Given the description of an element on the screen output the (x, y) to click on. 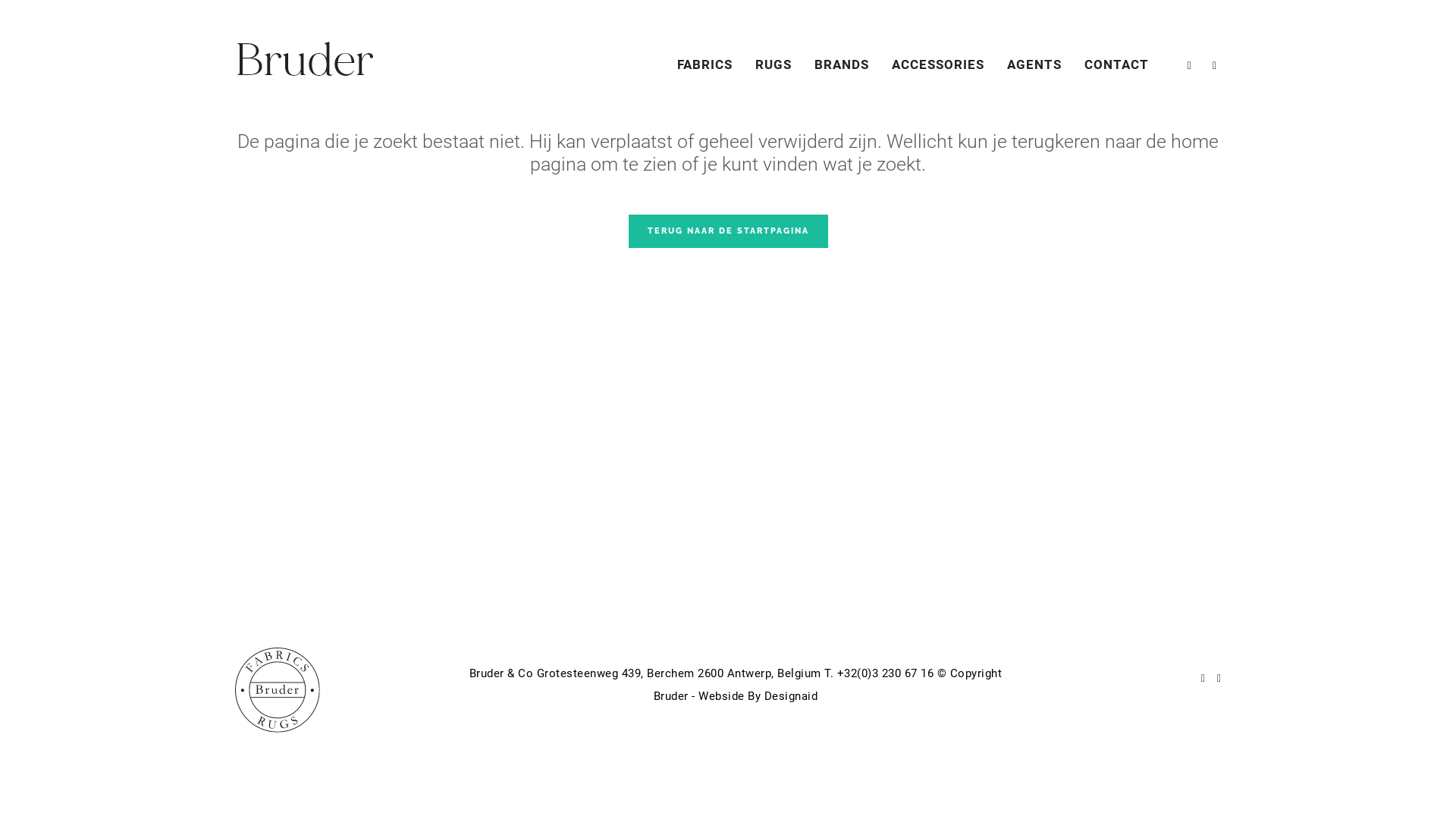
T. +32(0)3 230 67 16 Element type: text (880, 673)
BRANDS Element type: text (841, 64)
Designaid Element type: text (791, 695)
ACCESSORIES Element type: text (937, 64)
FABRICS Element type: text (704, 64)
RUGS Element type: text (773, 64)
CONTACT Element type: text (1116, 64)
AGENTS Element type: text (1034, 64)
TERUG NAAR DE STARTPAGINA Element type: text (727, 230)
